Given the description of an element on the screen output the (x, y) to click on. 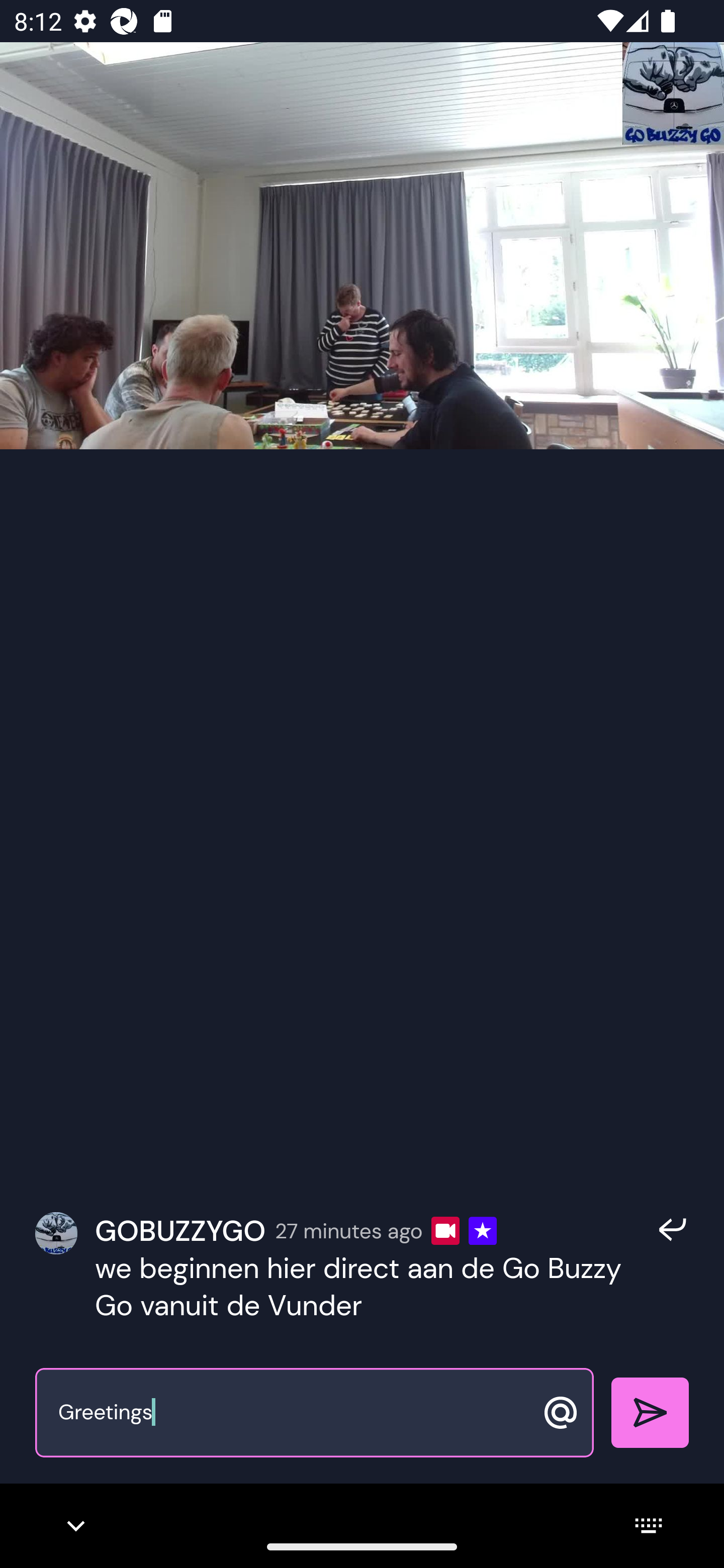
GOBUZZYGO (179, 1230)
Greetings (292, 1413)
